Given the description of an element on the screen output the (x, y) to click on. 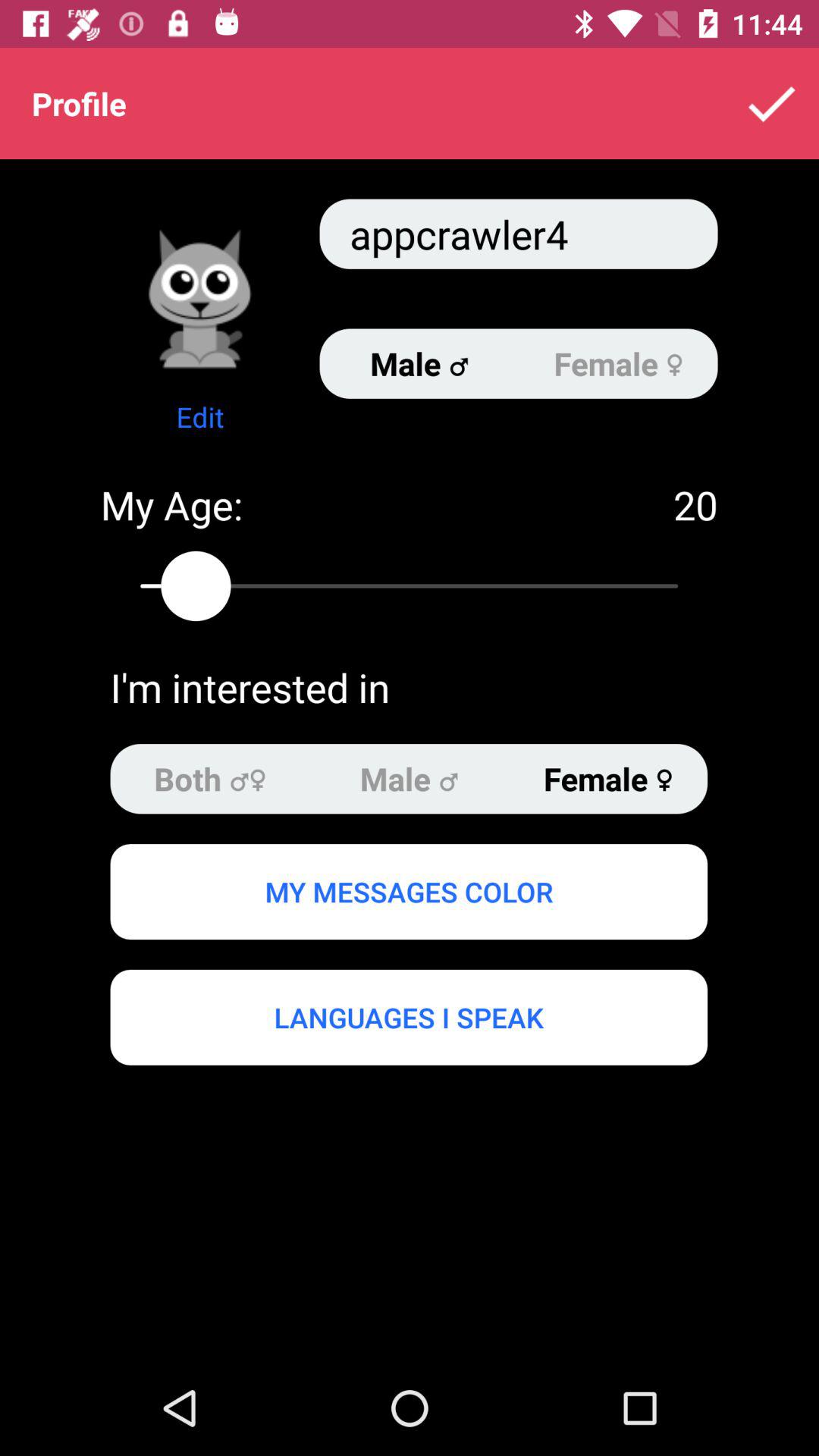
turn off the languages i speak icon (408, 1017)
